Given the description of an element on the screen output the (x, y) to click on. 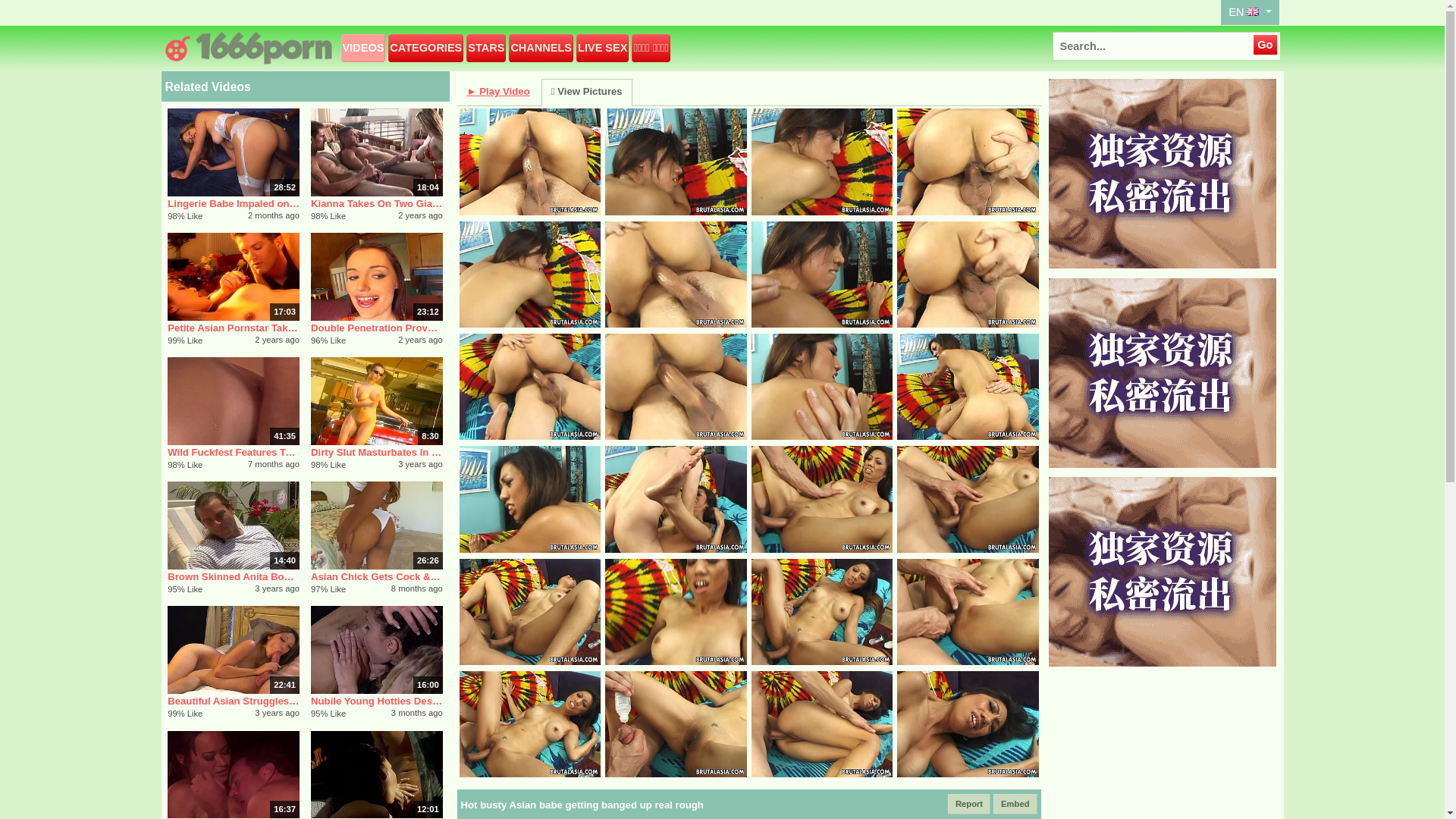
CATEGORIES Element type: text (425, 48)
Embed Element type: text (1014, 803)
Asian Chick Gets Cock & Cum In Her Pussy Element type: text (376, 576)
18:04 Element type: text (376, 152)
Brown Skinned Anita Bounces On Hard Dick Element type: text (233, 576)
17:03 Element type: text (233, 276)
23:12 Element type: text (376, 276)
Go Element type: text (1264, 44)
Wild Fuckfest Features Tons of Pornstars Element type: text (233, 452)
41:35 Element type: text (233, 401)
VIDEOS Element type: text (363, 48)
Dirty Slut Masturbates In Driver's Seat Element type: text (376, 452)
Nubile Young Hotties Desperate To Cum Element type: text (376, 700)
16:00 Element type: text (376, 649)
28:52 Element type: text (233, 152)
Report Element type: text (968, 803)
22:41 Element type: text (233, 649)
LIVE SEX Element type: text (602, 48)
26:26 Element type: text (376, 525)
Beautiful Asian Struggles With Huge Cock Element type: text (233, 700)
Petite Asian Pornstar Taking Big Dick Element type: text (233, 327)
8:30 Element type: text (376, 401)
STARS Element type: text (485, 48)
14:40 Element type: text (233, 525)
Kianna Takes On Two Giant Cock Loads Element type: text (376, 203)
Lingerie Babe Impaled on Black Dick Element type: text (233, 203)
EN Element type: text (1249, 12)
CHANNELS Element type: text (540, 48)
